Given the description of an element on the screen output the (x, y) to click on. 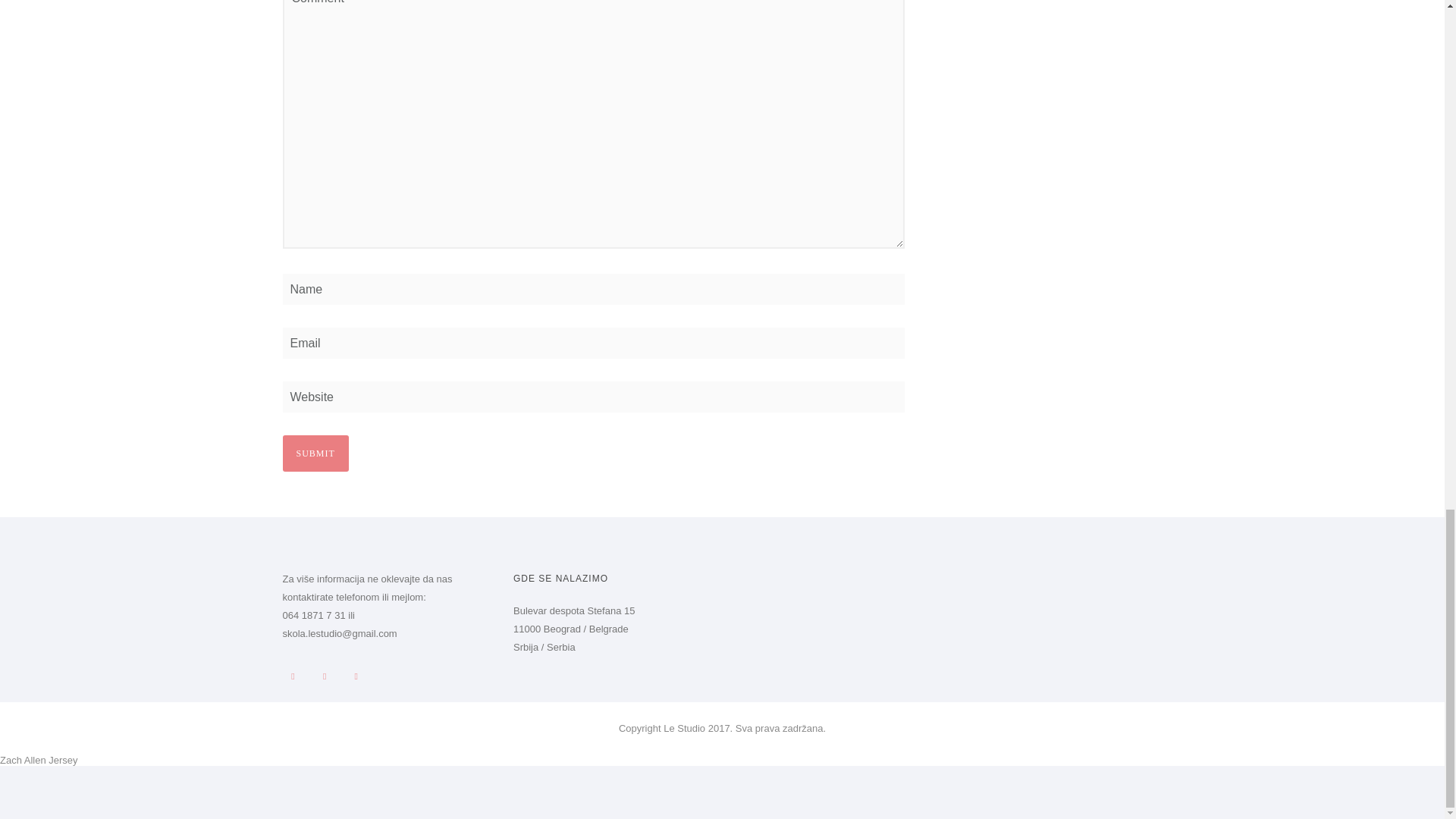
Submit (314, 452)
Submit (314, 452)
